Given the description of an element on the screen output the (x, y) to click on. 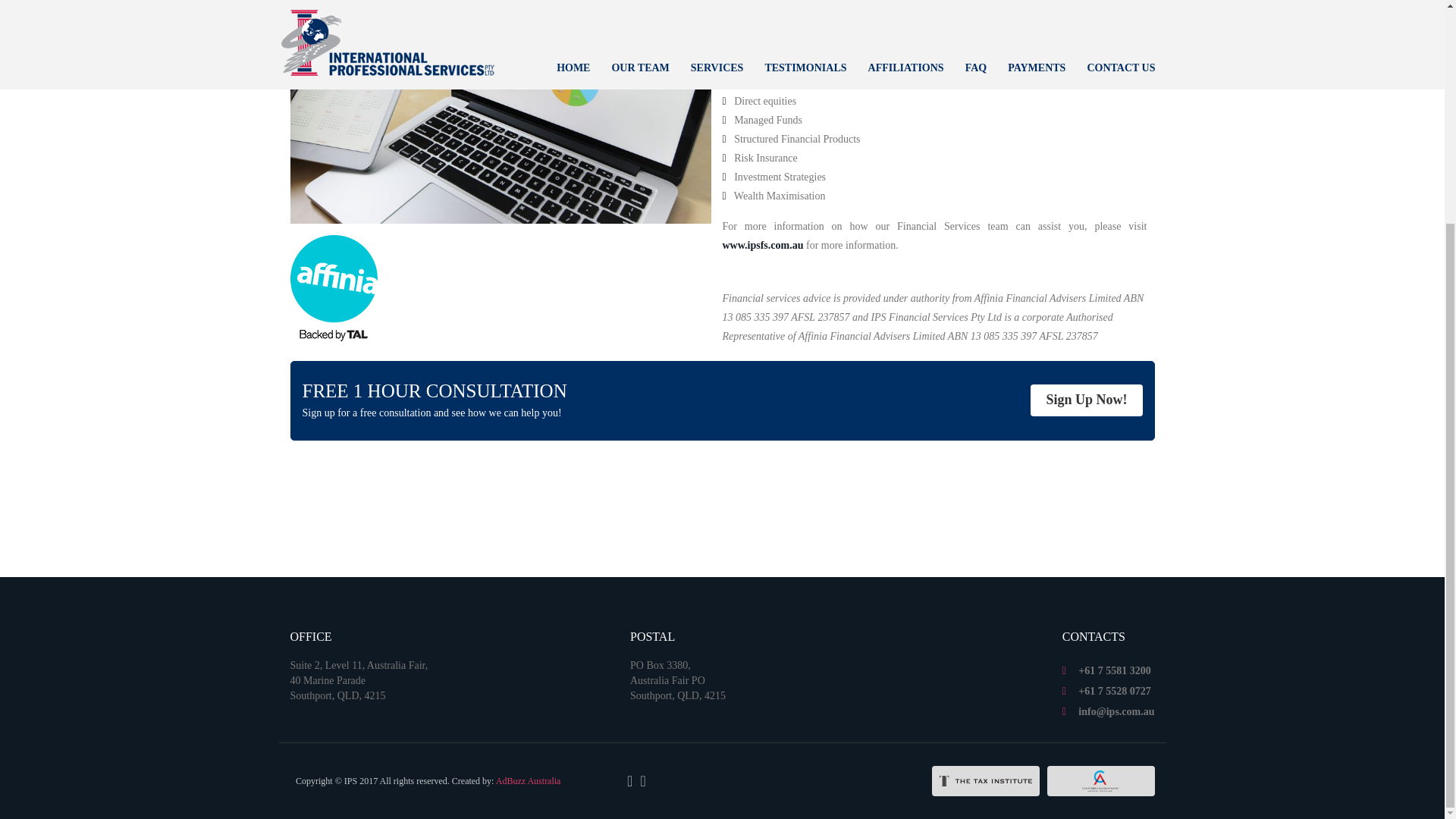
www.ipsfs.com.au (762, 244)
Sign Up Now! (1085, 400)
AdBuzz Australia (528, 780)
